Given the description of an element on the screen output the (x, y) to click on. 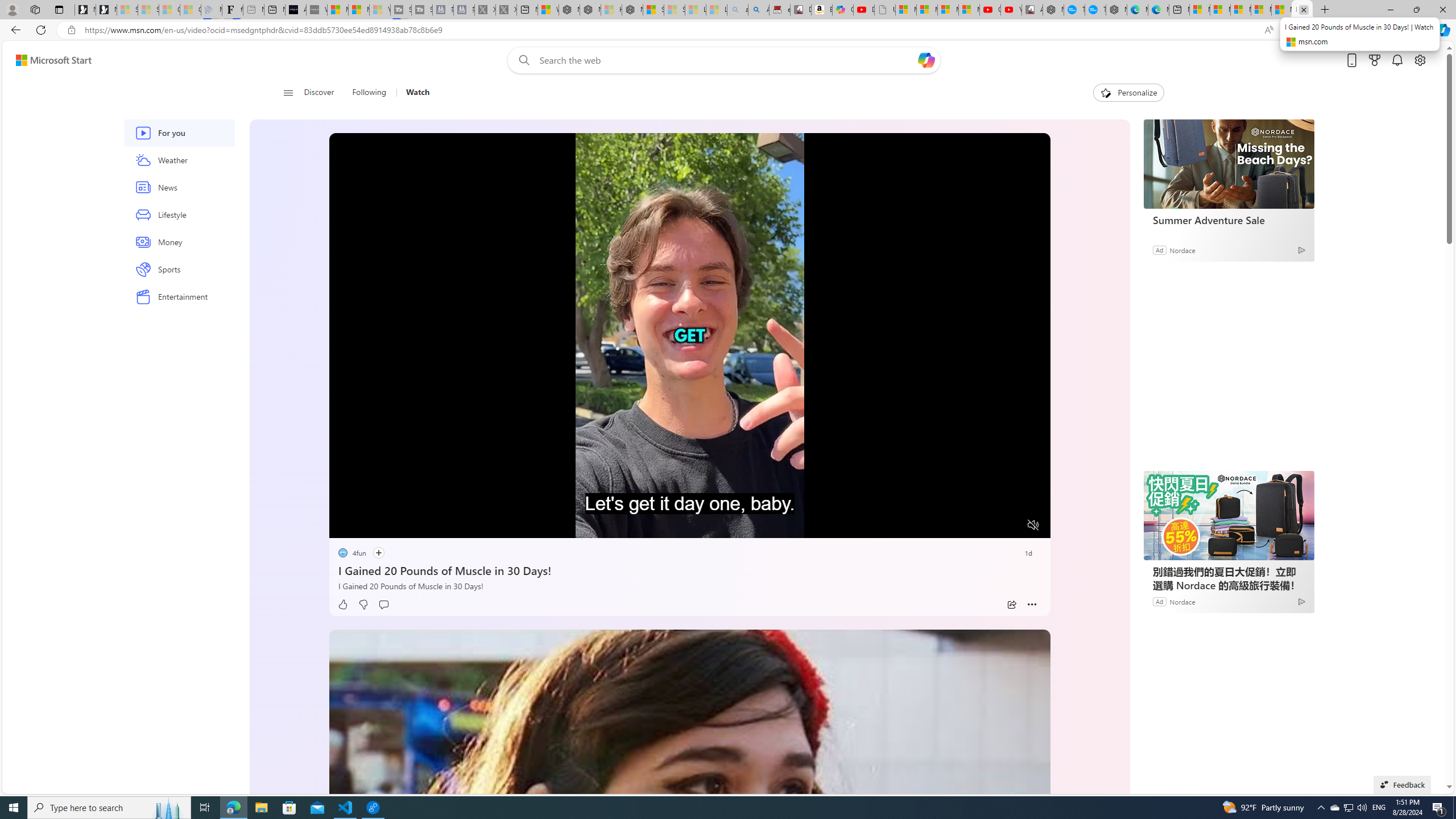
Tab actions menu (58, 9)
Copilot (Ctrl+Shift+.) (1442, 29)
Nordace - Nordace Siena Is Not An Ordinary Backpack (632, 9)
Start the conversation (383, 604)
Wildlife - MSN (547, 9)
Summer Adventure Sale (1227, 219)
Address and search bar (669, 29)
Untitled (884, 9)
Open navigation menu (287, 92)
Open Copilot (925, 59)
Notifications (1397, 60)
More (1031, 604)
